Given the description of an element on the screen output the (x, y) to click on. 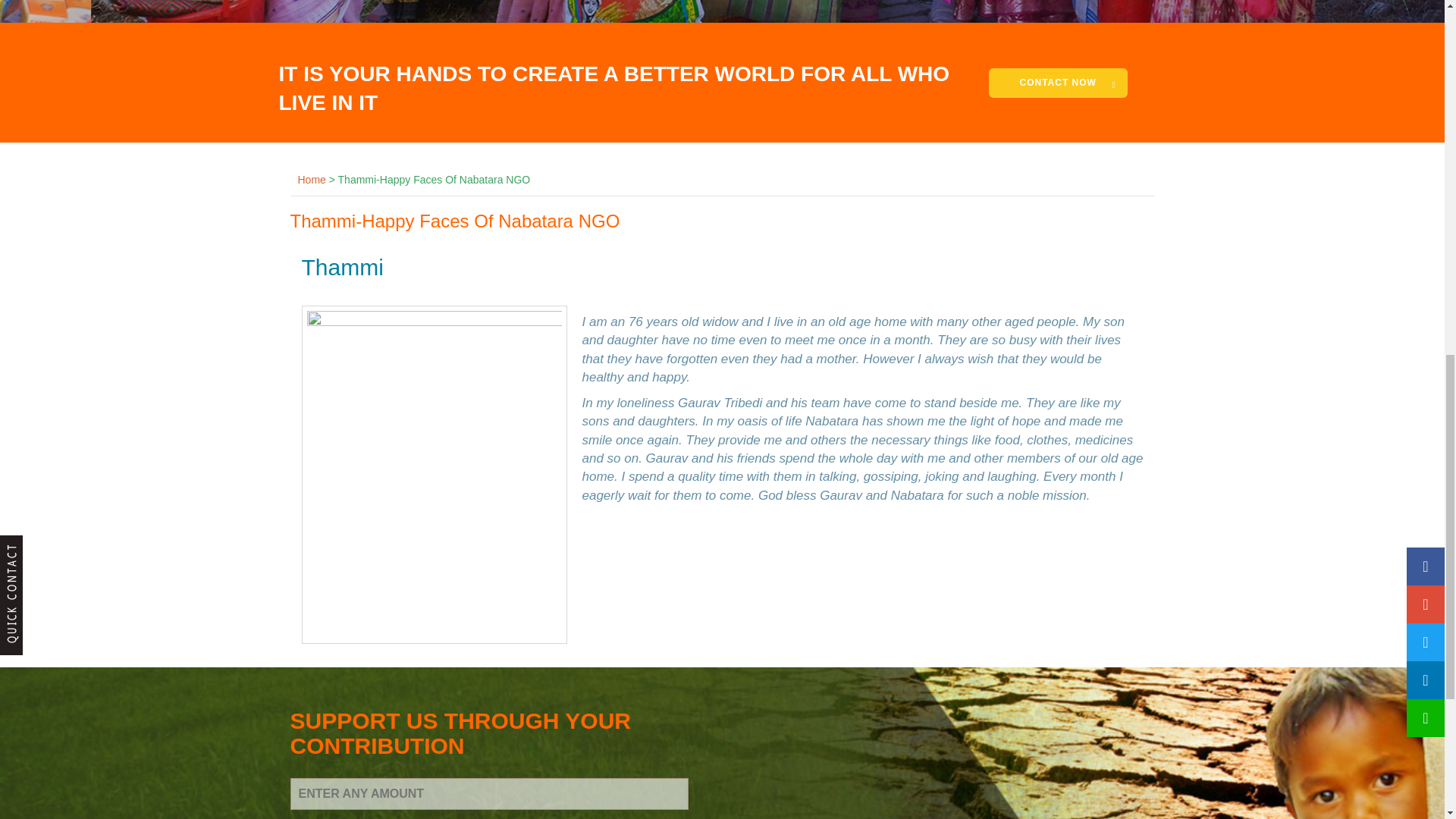
CONTACT NOW (1057, 82)
Home (310, 179)
